Given the description of an element on the screen output the (x, y) to click on. 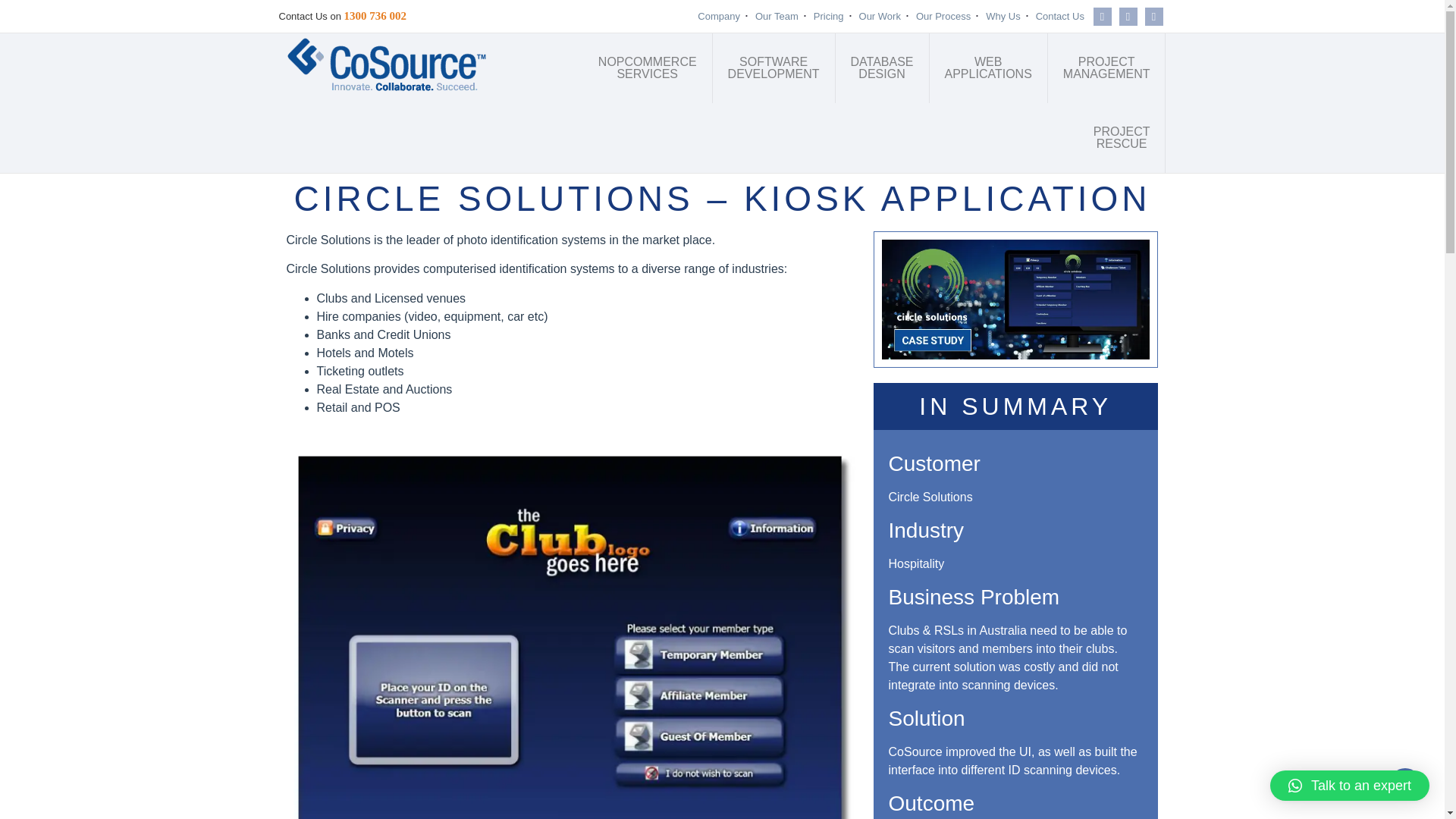
Our Team (648, 68)
Pricing (777, 16)
Contact Us (828, 16)
Our Process (989, 68)
Our Work (1059, 16)
obt (1122, 137)
Company (943, 16)
Why Us (1107, 68)
